Given the description of an element on the screen output the (x, y) to click on. 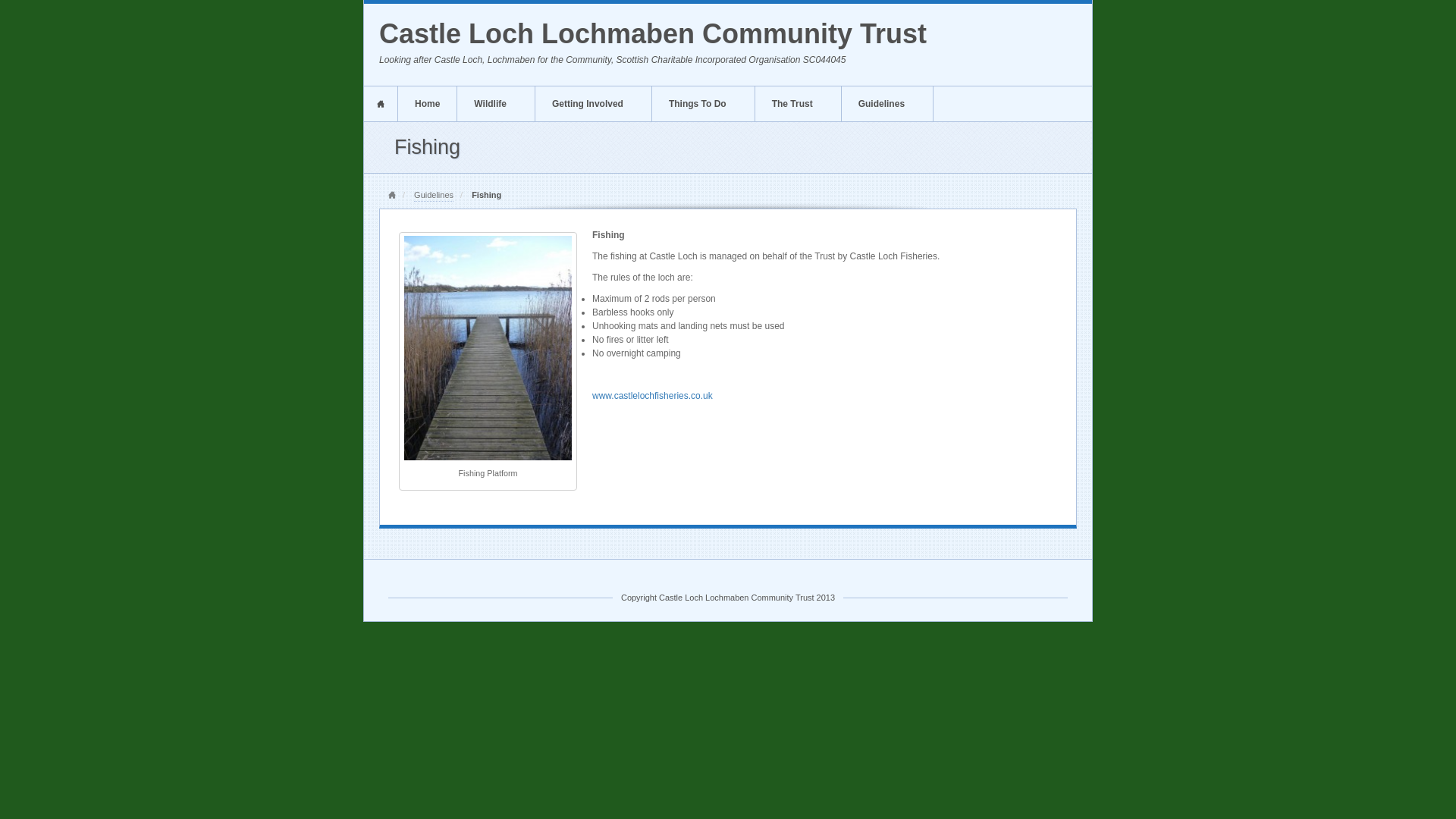
Castle Loch Lochmaben Community Trust (652, 33)
Wildlife (495, 103)
Things To Do (703, 103)
Home (380, 103)
Guidelines (432, 195)
Castle Loch Lochmaben Community Trust (652, 33)
Home (427, 103)
Guidelines (887, 103)
Home (392, 195)
The Trust (798, 103)
Home (392, 195)
Getting Involved (592, 103)
www.castlelochfisheries.co.uk (652, 395)
Guidelines (432, 195)
Home (380, 103)
